Given the description of an element on the screen output the (x, y) to click on. 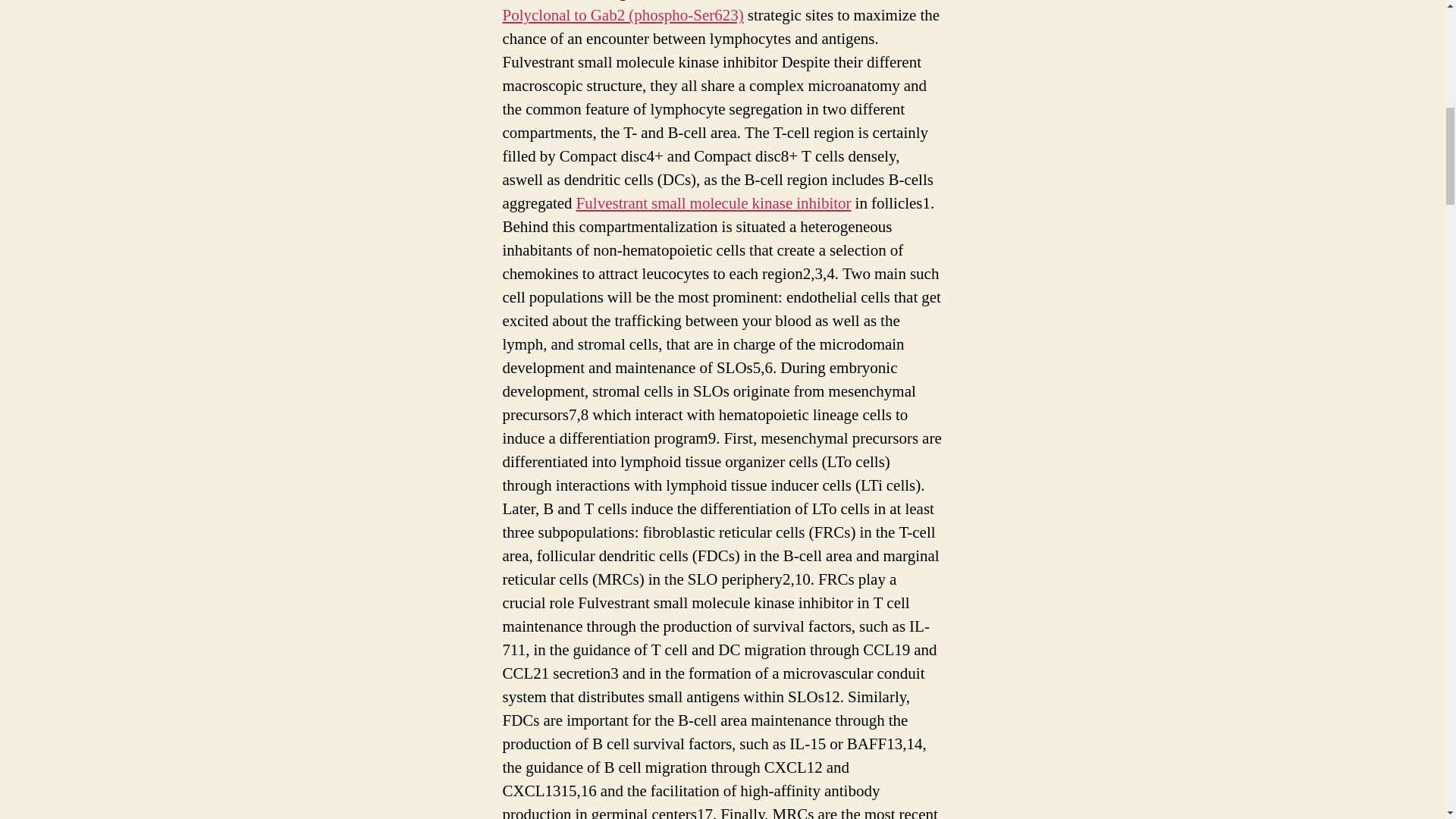
Fulvestrant small molecule kinase inhibitor (713, 203)
